Given the description of an element on the screen output the (x, y) to click on. 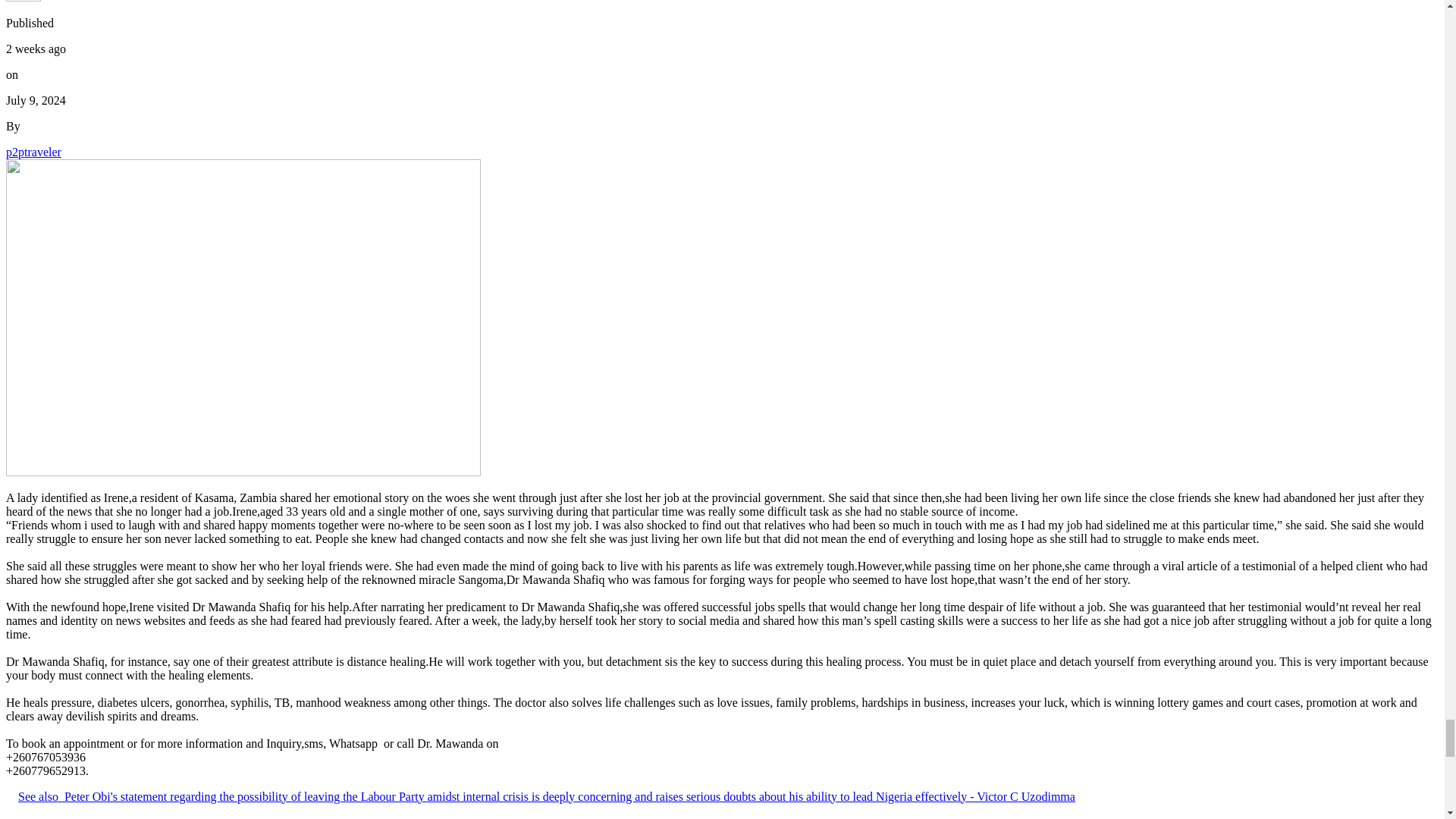
Posts by p2ptraveler (33, 151)
